Given the description of an element on the screen output the (x, y) to click on. 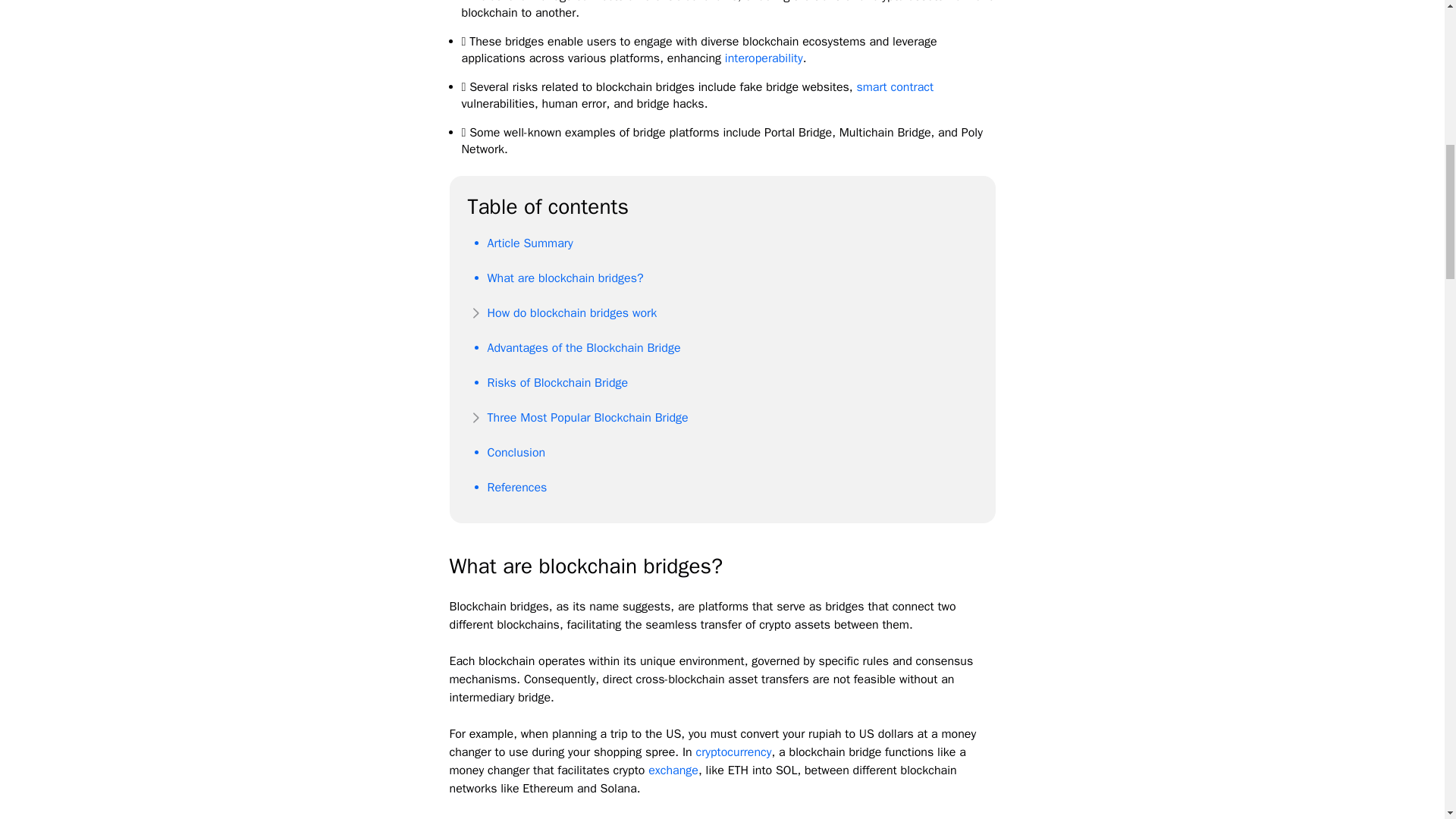
Article Summary (529, 242)
Advantages of the Blockchain Bridge (582, 347)
Conclusion (515, 452)
Advantages of the Blockchain Bridge (582, 347)
Article Summary (529, 242)
Risks of Blockchain Bridge (556, 382)
Three Most Popular Blockchain Bridge (586, 417)
References (516, 487)
Three Most Popular Blockchain Bridge (586, 417)
References (516, 487)
What are blockchain bridges? (564, 278)
How do blockchain bridges work (571, 313)
What are blockchain bridges? (564, 278)
cryptocurrency (733, 752)
